Given the description of an element on the screen output the (x, y) to click on. 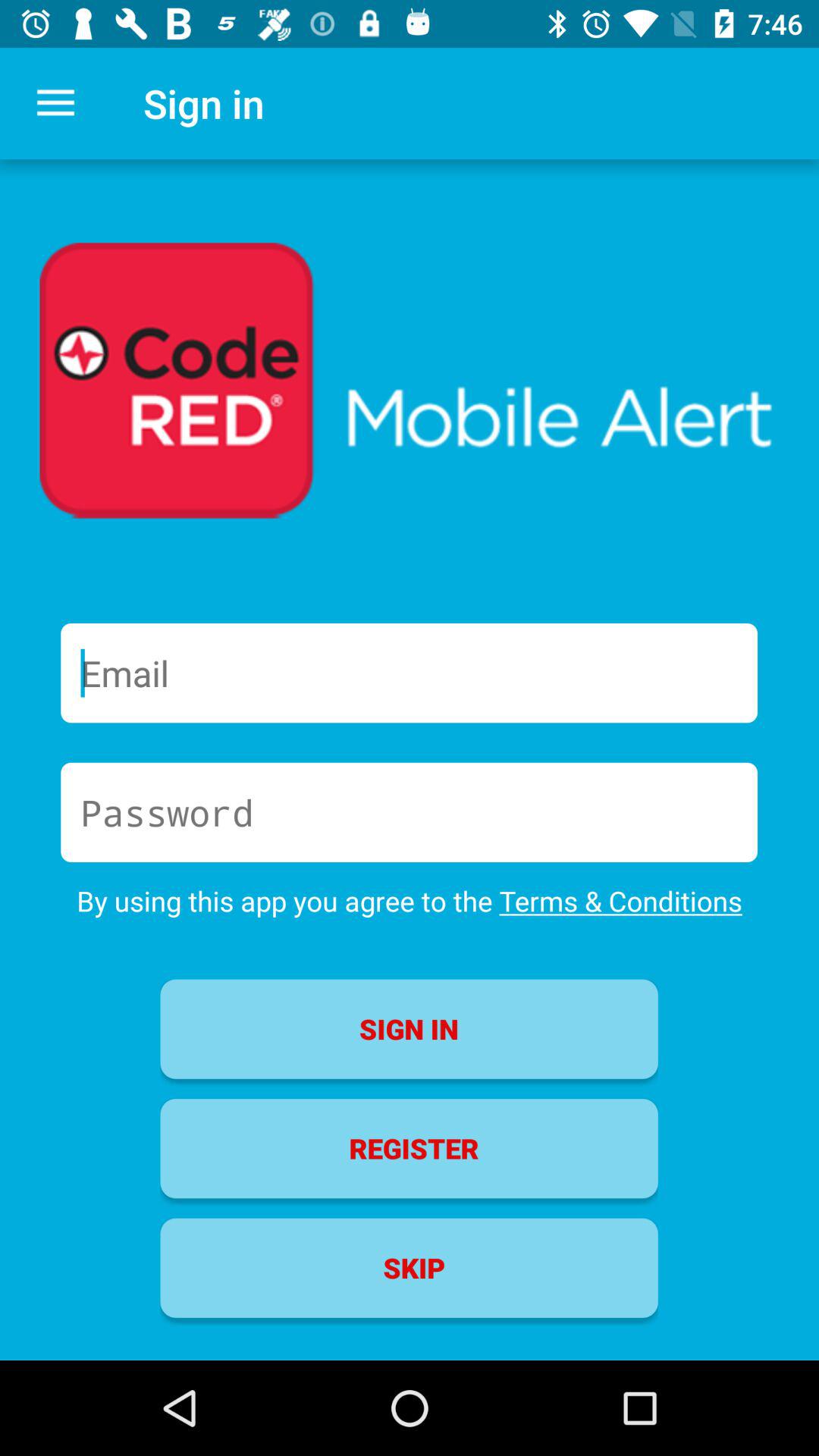
click the item above the by using this icon (408, 812)
